Given the description of an element on the screen output the (x, y) to click on. 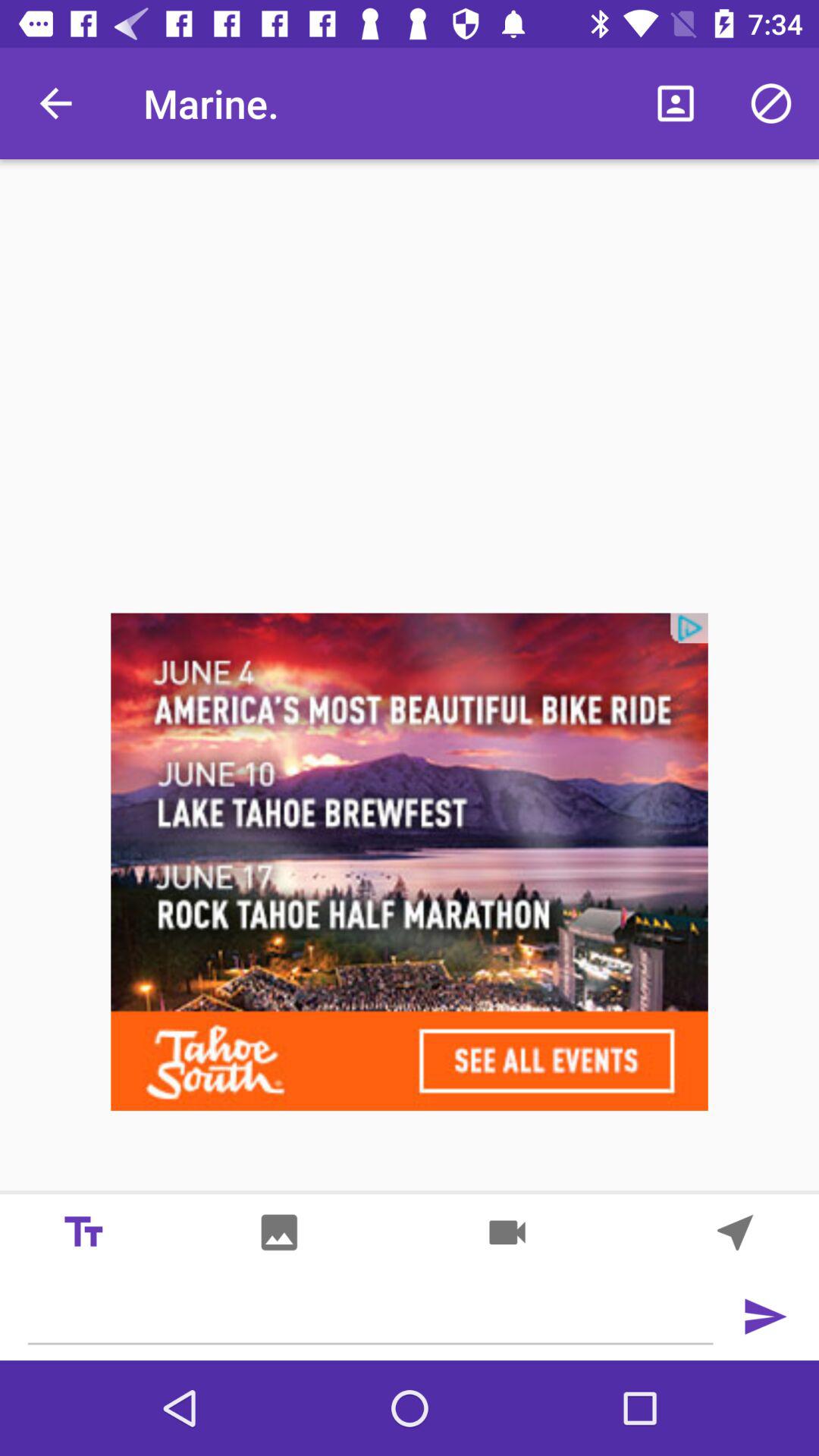
go to next option (764, 1316)
